Given the description of an element on the screen output the (x, y) to click on. 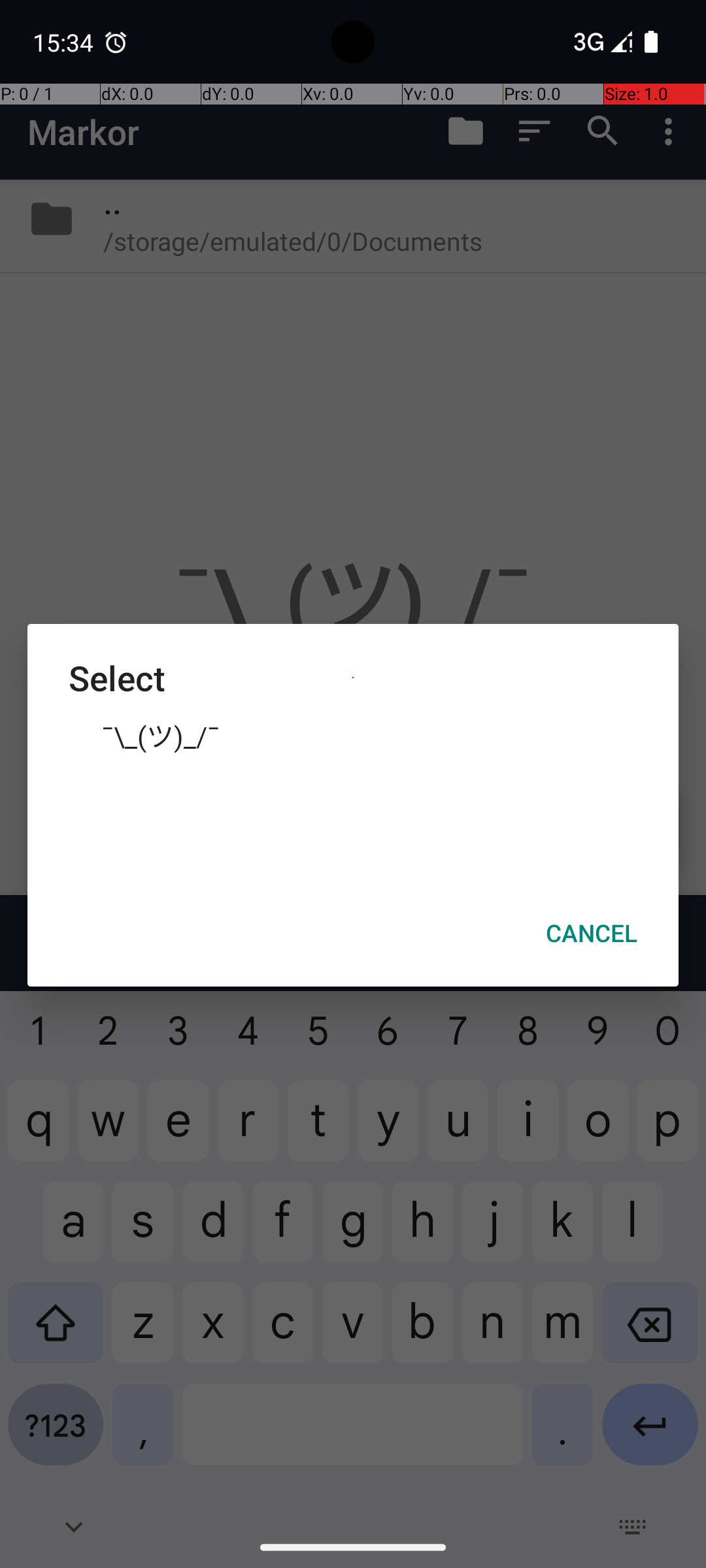
     ¯\_(ツ)_/¯      Element type: android.widget.TextView (352, 734)
